Given the description of an element on the screen output the (x, y) to click on. 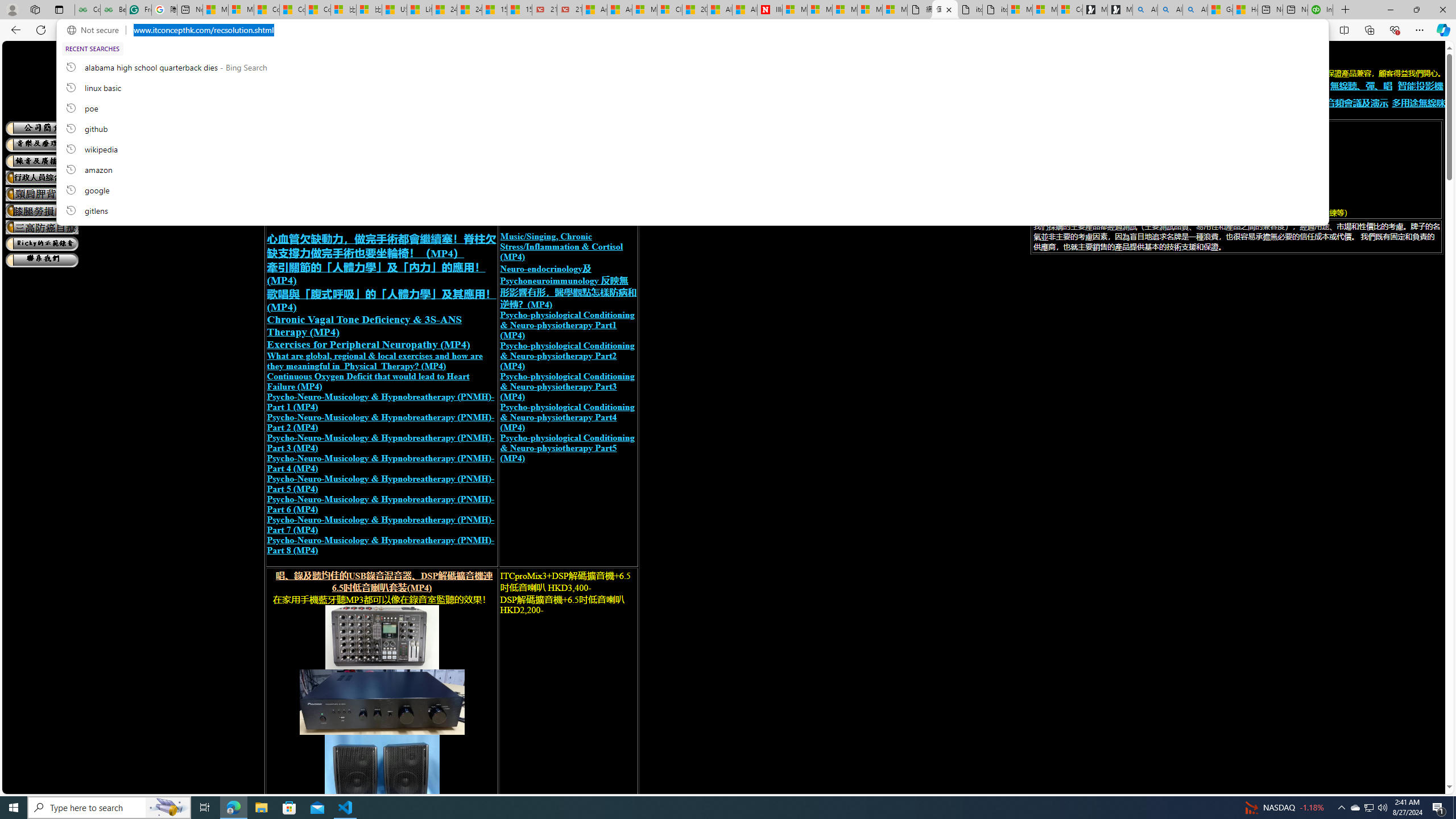
20 Ways to Boost Your Protein Intake at Every Meal (694, 9)
21 Movies That Outdid the Books They Were Based On (568, 9)
Consumer Health Data Privacy Policy (1069, 9)
Lifestyle - MSN (418, 9)
